Given the description of an element on the screen output the (x, y) to click on. 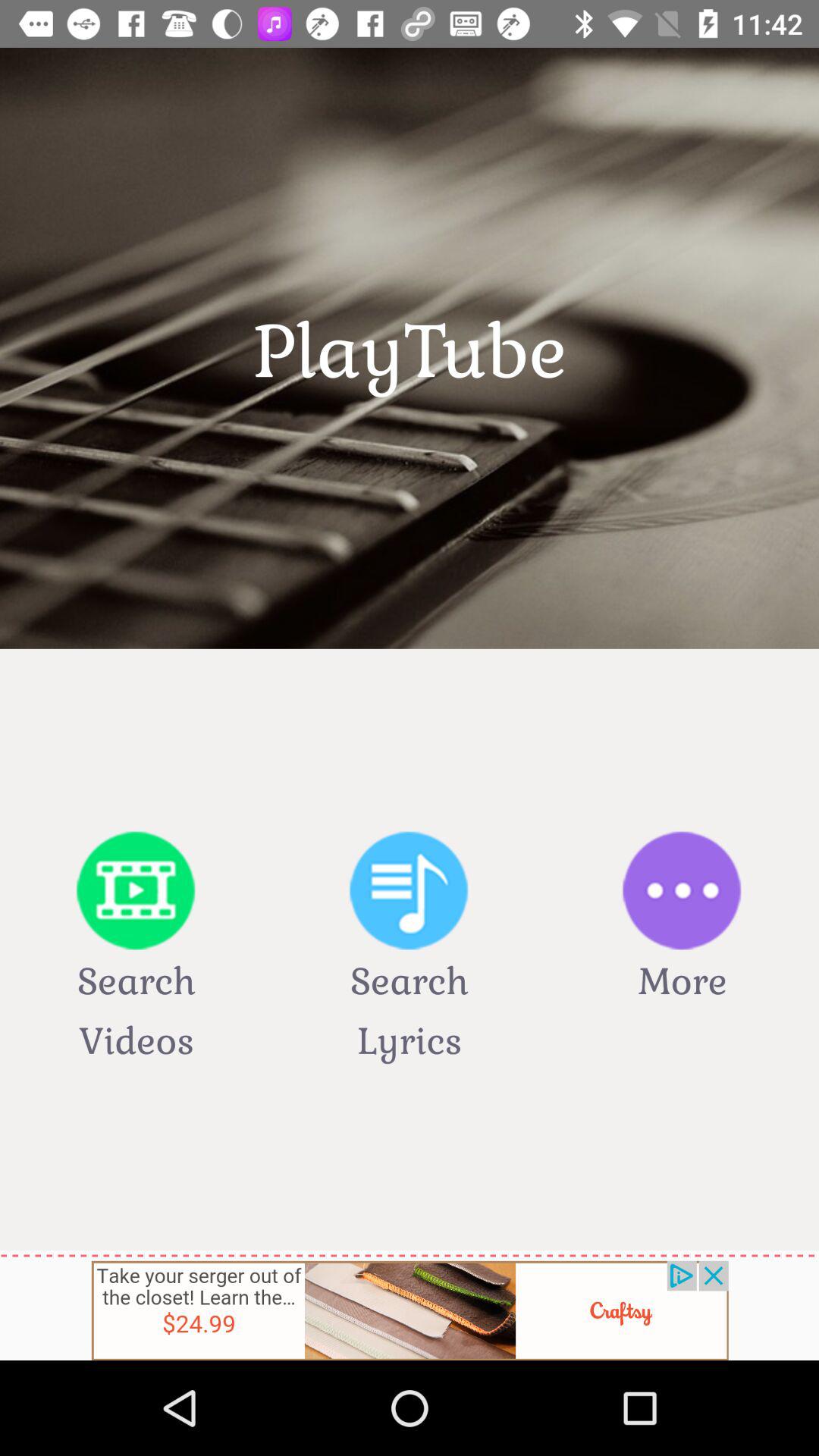
advertisement link to different site (409, 1310)
